Given the description of an element on the screen output the (x, y) to click on. 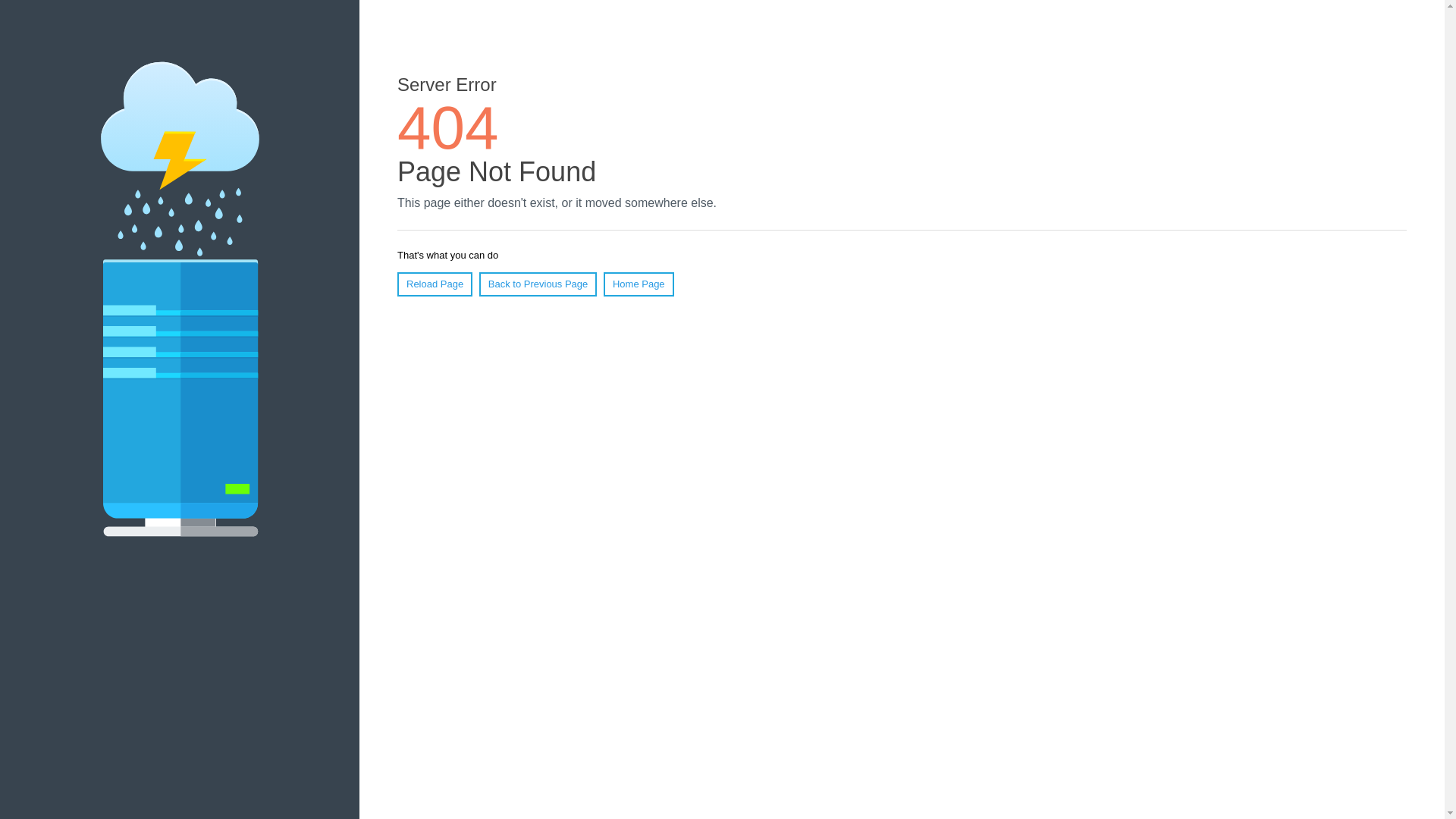
Back to Previous Page Element type: text (538, 284)
Home Page Element type: text (638, 284)
Reload Page Element type: text (434, 284)
